Given the description of an element on the screen output the (x, y) to click on. 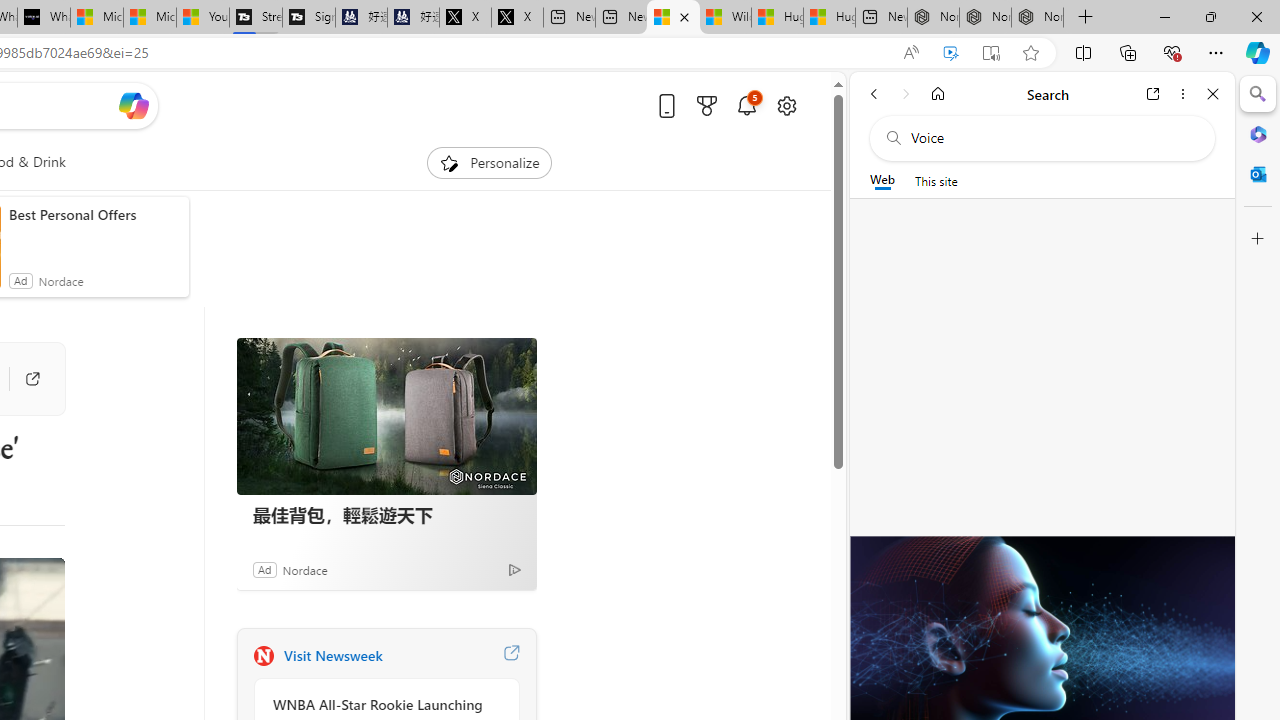
Open link in new tab (1153, 93)
Search the web (1051, 137)
To get missing image descriptions, open the context menu. (449, 162)
Newsweek (263, 655)
X (516, 17)
Nordace - Best Sellers (932, 17)
Streaming Coverage | T3 (255, 17)
